Given the description of an element on the screen output the (x, y) to click on. 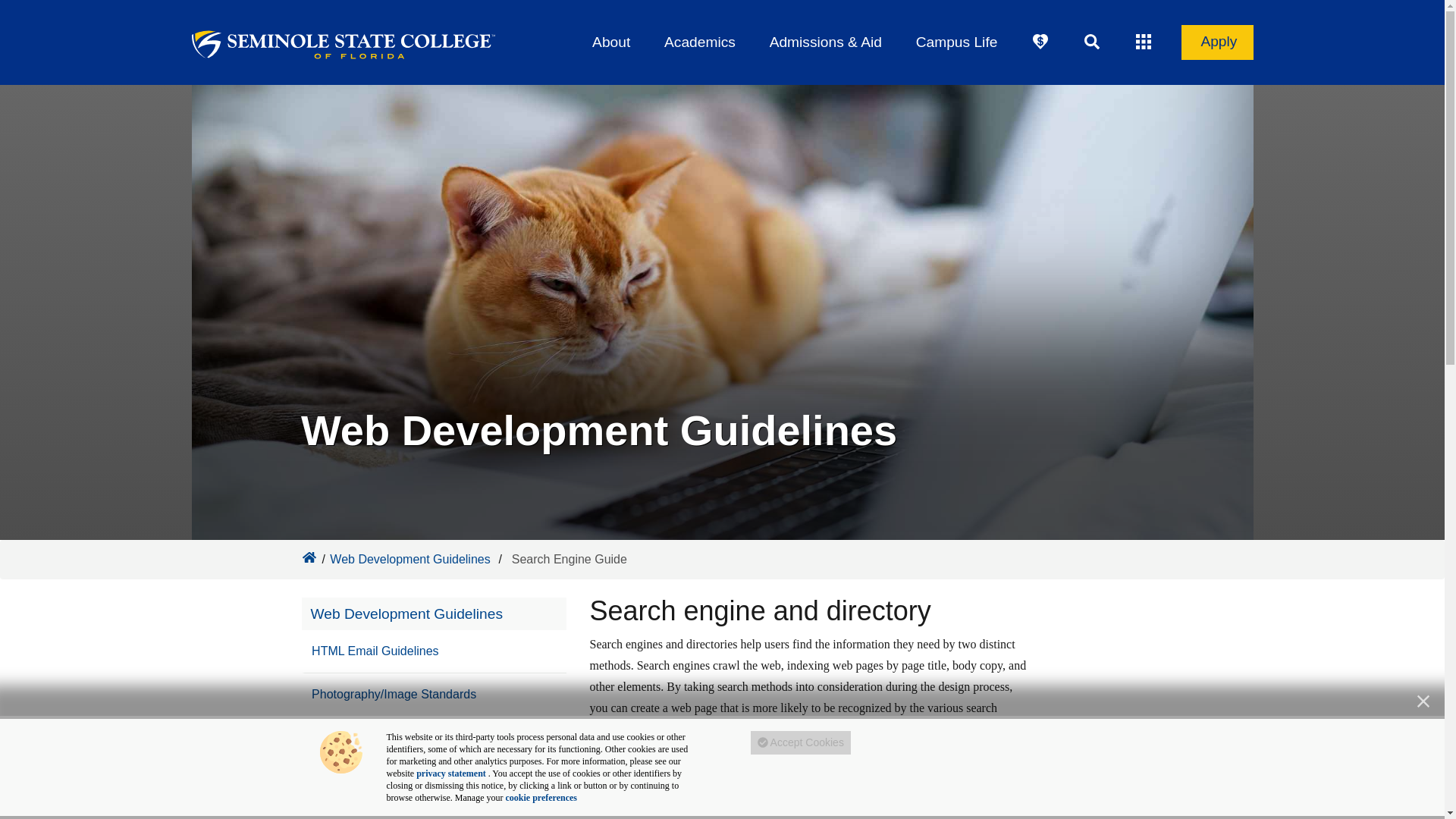
My Apps (1143, 41)
My Apps (1143, 41)
Campus Life (956, 42)
Give (1039, 41)
Give (1039, 41)
Academics (699, 42)
Search (1091, 41)
My Apps (1143, 41)
Search (1091, 41)
Seminole State College Homepage (308, 557)
